Given the description of an element on the screen output the (x, y) to click on. 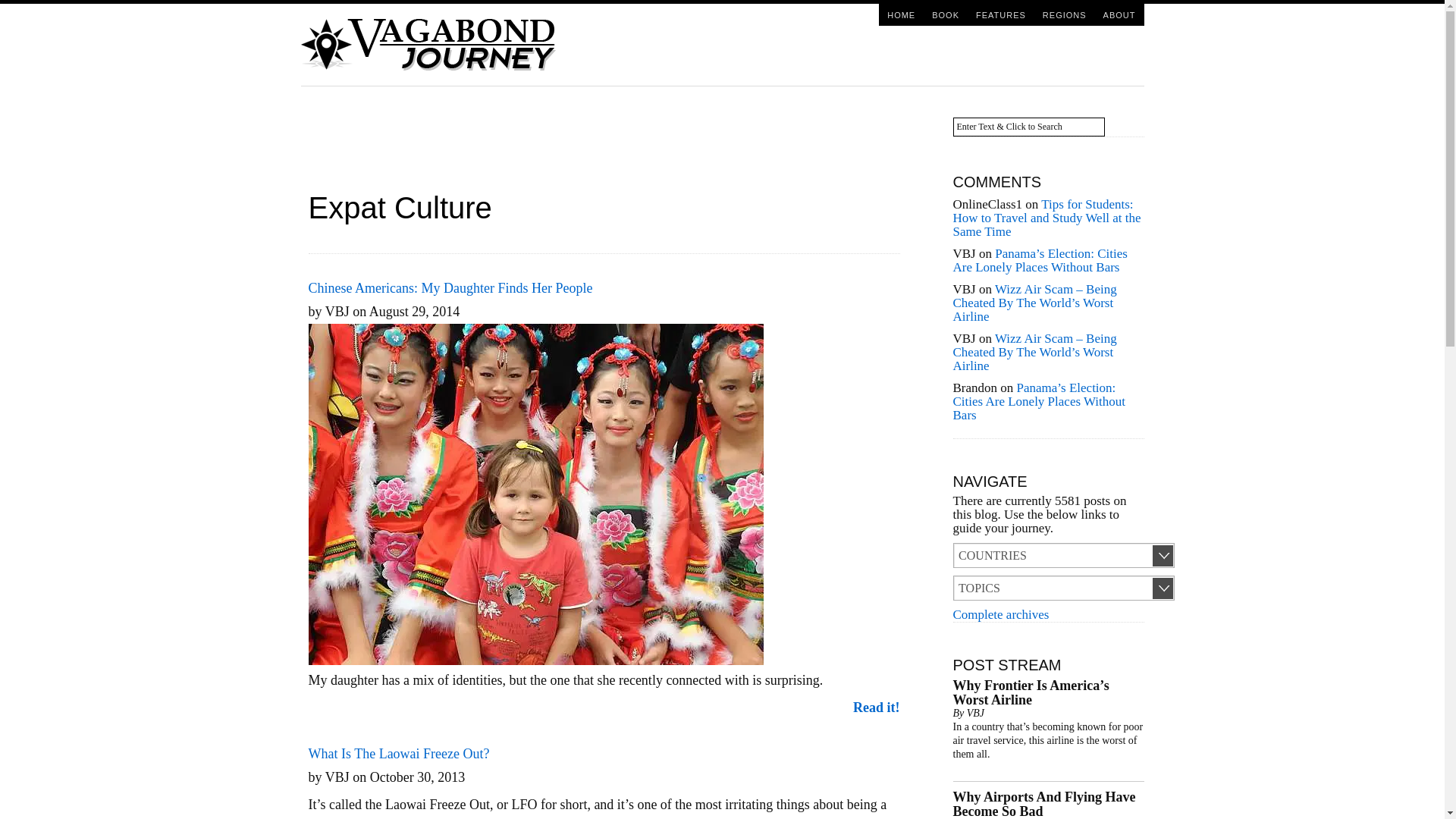
What Is The Laowai Freeze Out? (398, 753)
VBJ (975, 713)
Home (901, 14)
ABOUT (1119, 14)
Chinese Americans: My Daughter Finds Her People (449, 287)
REGIONS (1063, 14)
Posts by VBJ (975, 713)
FEATURES (1000, 14)
BOOK (945, 14)
Why Airports And Flying Have Become So Bad (1043, 804)
Complete archives (1000, 614)
HOME (901, 14)
Read it! (876, 707)
2014-08-29 (414, 311)
